Given the description of an element on the screen output the (x, y) to click on. 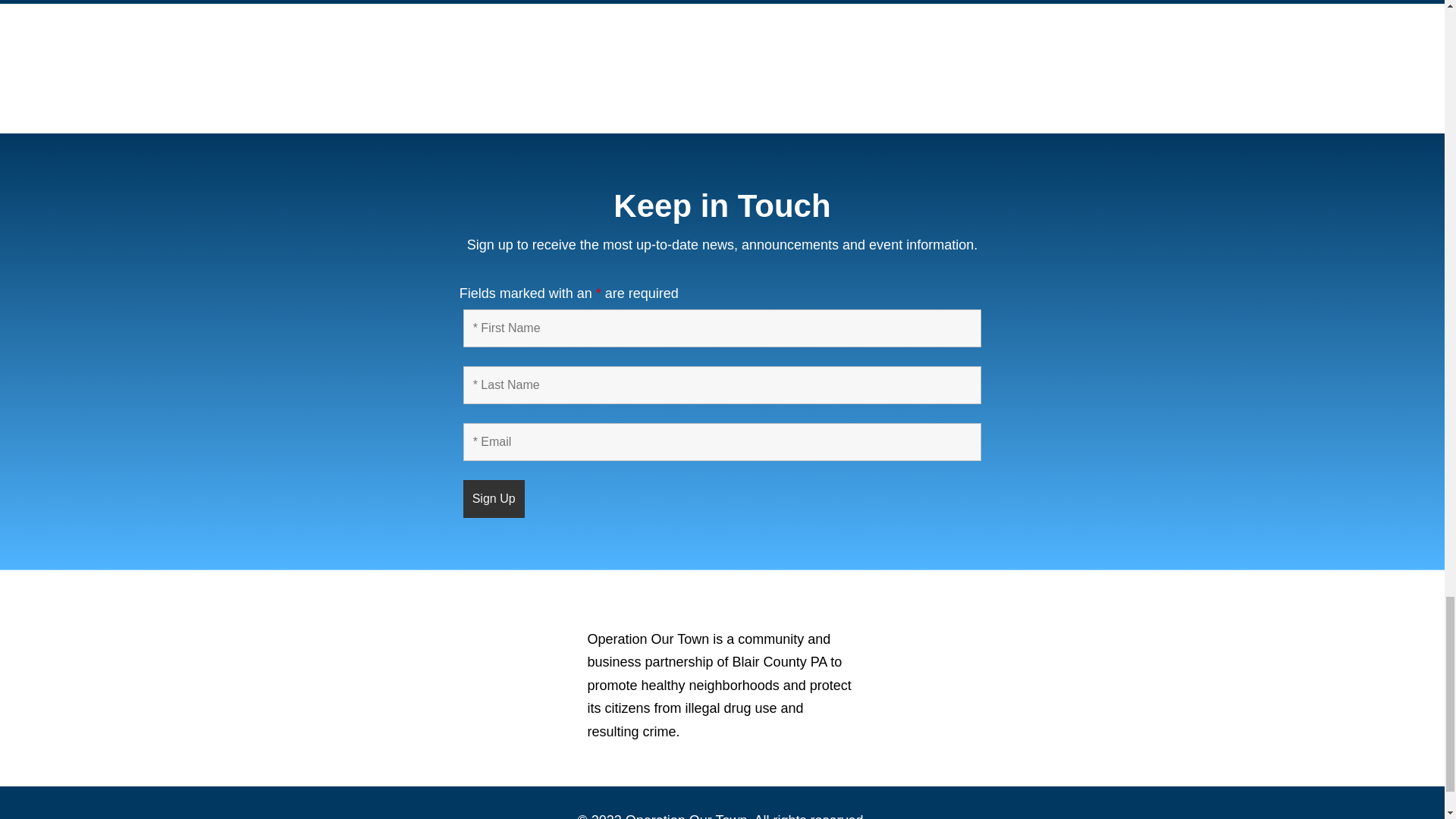
Sign Up (493, 498)
